Given the description of an element on the screen output the (x, y) to click on. 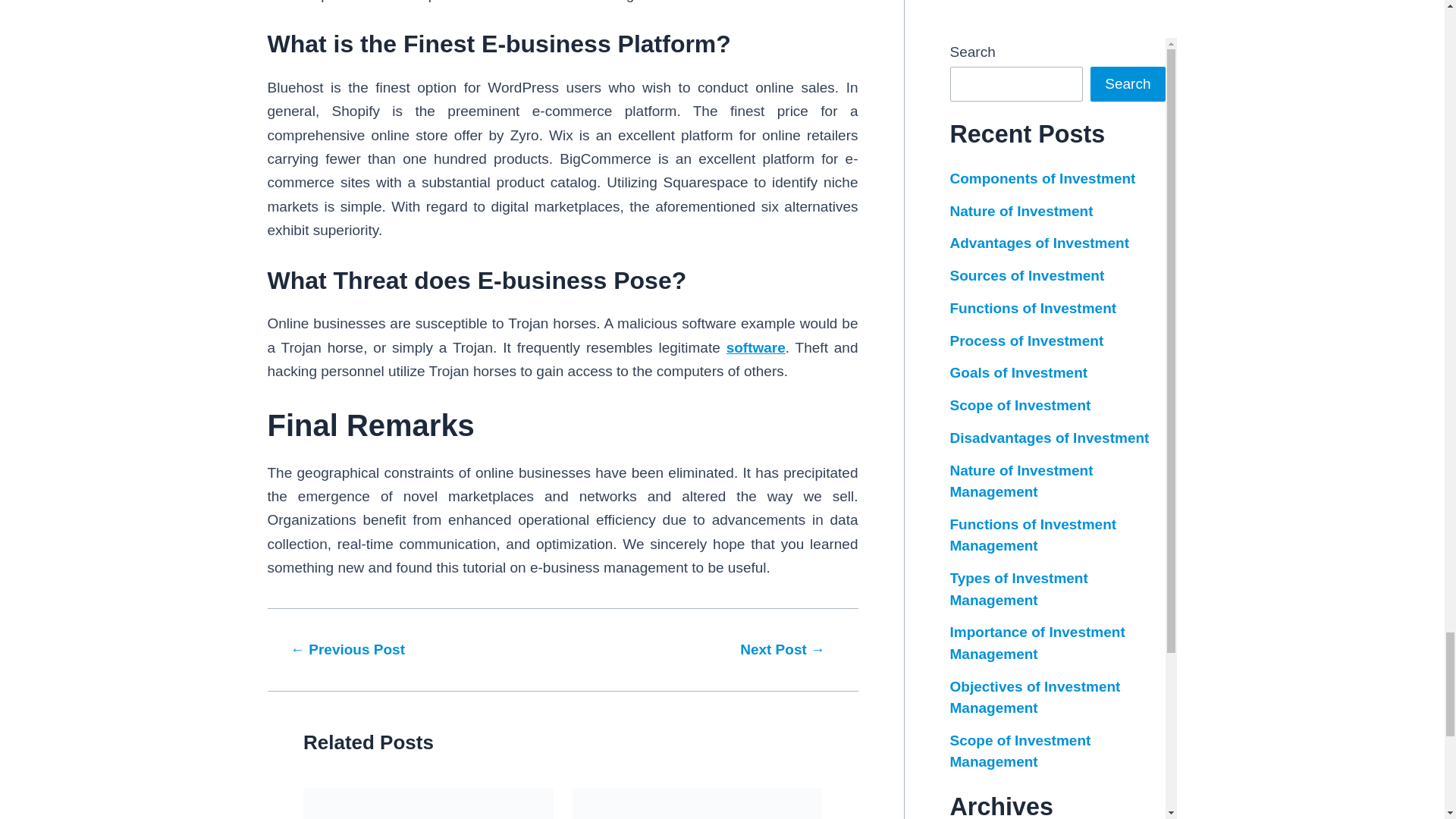
software (756, 347)
